Given the description of an element on the screen output the (x, y) to click on. 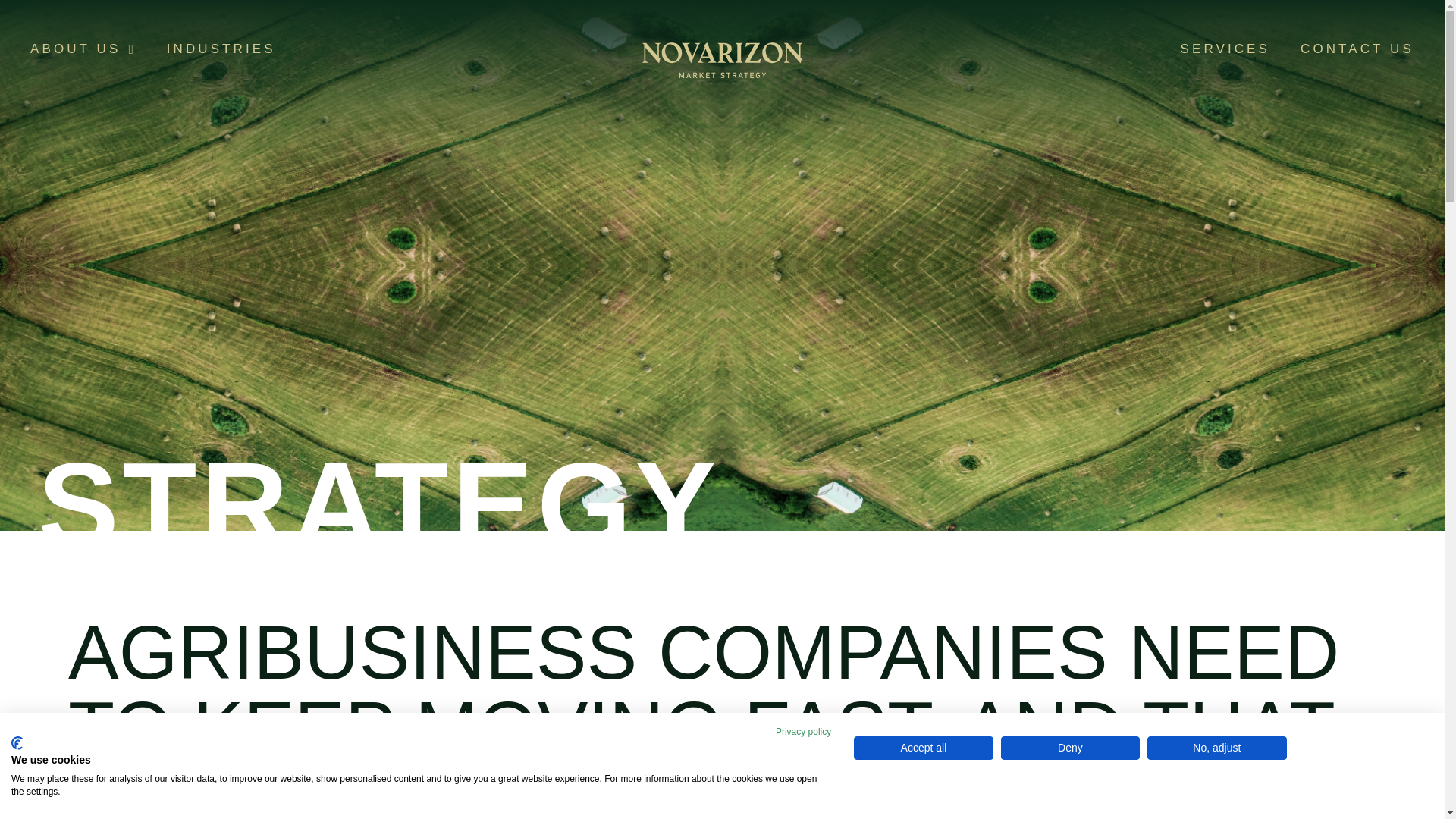
No, adjust (1216, 748)
Privacy policy (803, 731)
CONTACT US (1356, 48)
Accept all (922, 748)
SERVICES (1224, 48)
INDUSTRIES (221, 48)
Deny (1070, 748)
ABOUT US (83, 48)
